Given the description of an element on the screen output the (x, y) to click on. 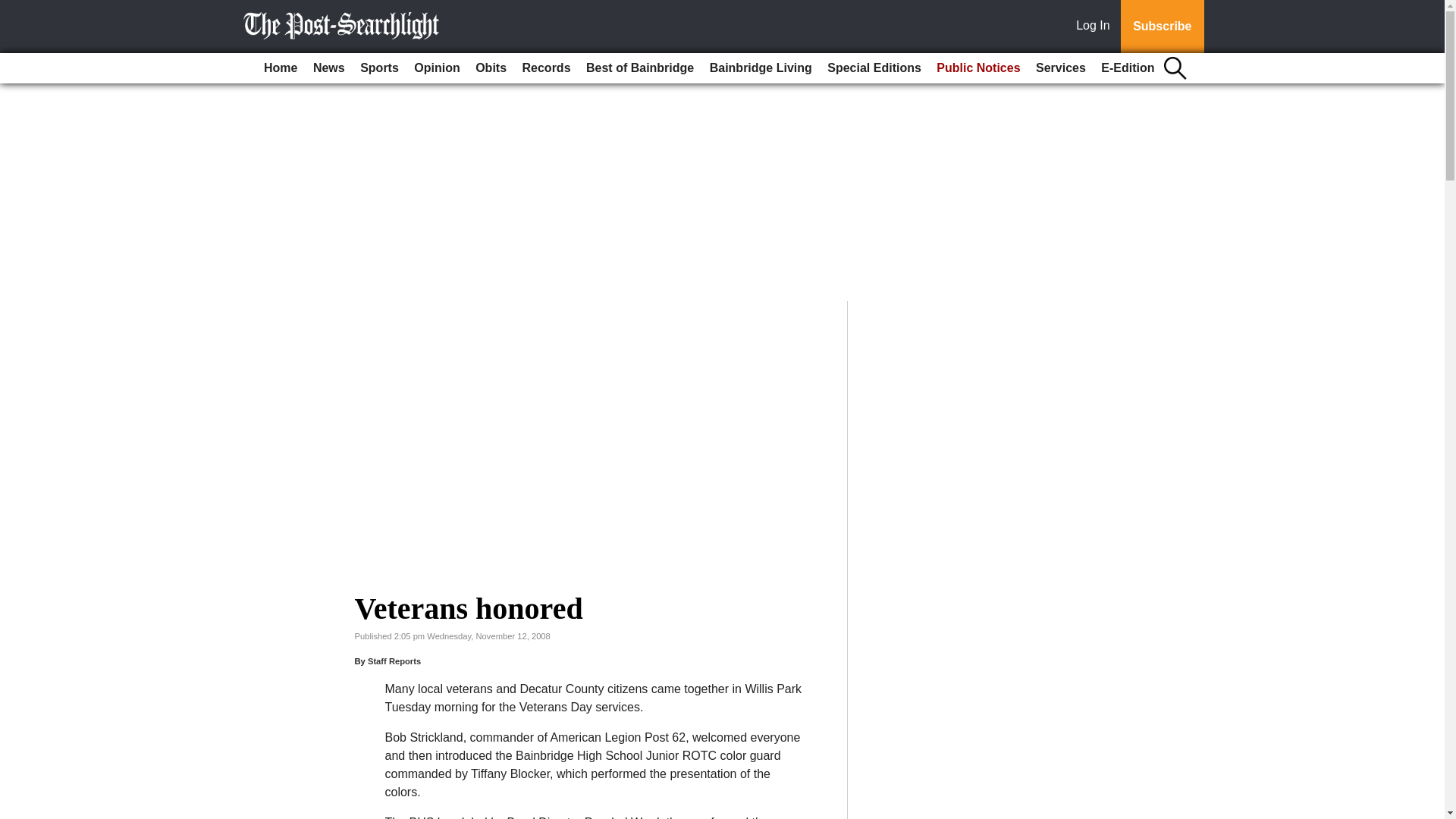
Special Editions (874, 68)
Best of Bainbridge (639, 68)
News (328, 68)
Subscribe (1162, 26)
Services (1060, 68)
Go (13, 9)
Records (546, 68)
Home (279, 68)
Public Notices (978, 68)
E-Edition (1127, 68)
Log In (1095, 26)
Sports (378, 68)
Obits (490, 68)
Staff Reports (394, 660)
Bainbridge Living (760, 68)
